Given the description of an element on the screen output the (x, y) to click on. 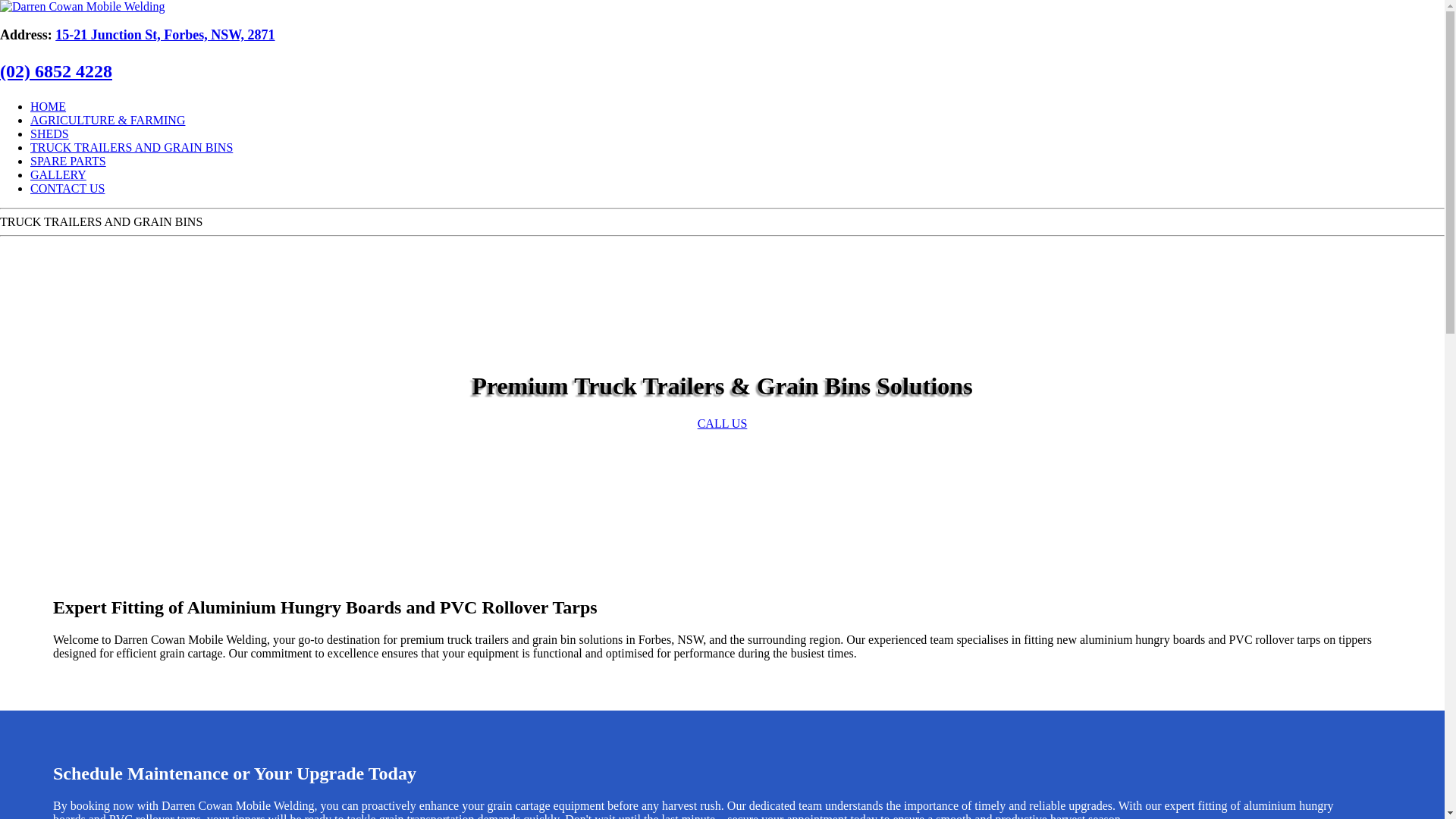
Darren Cowan Mobile Welding Element type: hover (82, 6)
AGRICULTURE & FARMING Element type: text (107, 119)
15-21 Junction St, Forbes, NSW, 2871 Element type: text (164, 34)
(02) 6852 4228 Element type: text (56, 71)
HOME Element type: text (47, 106)
CONTACT US Element type: text (67, 188)
TRUCK TRAILERS AND GRAIN BINS Element type: text (131, 147)
SHEDS Element type: text (49, 133)
GALLERY Element type: text (58, 174)
CALL US Element type: text (722, 423)
SPARE PARTS Element type: text (68, 160)
